Given the description of an element on the screen output the (x, y) to click on. 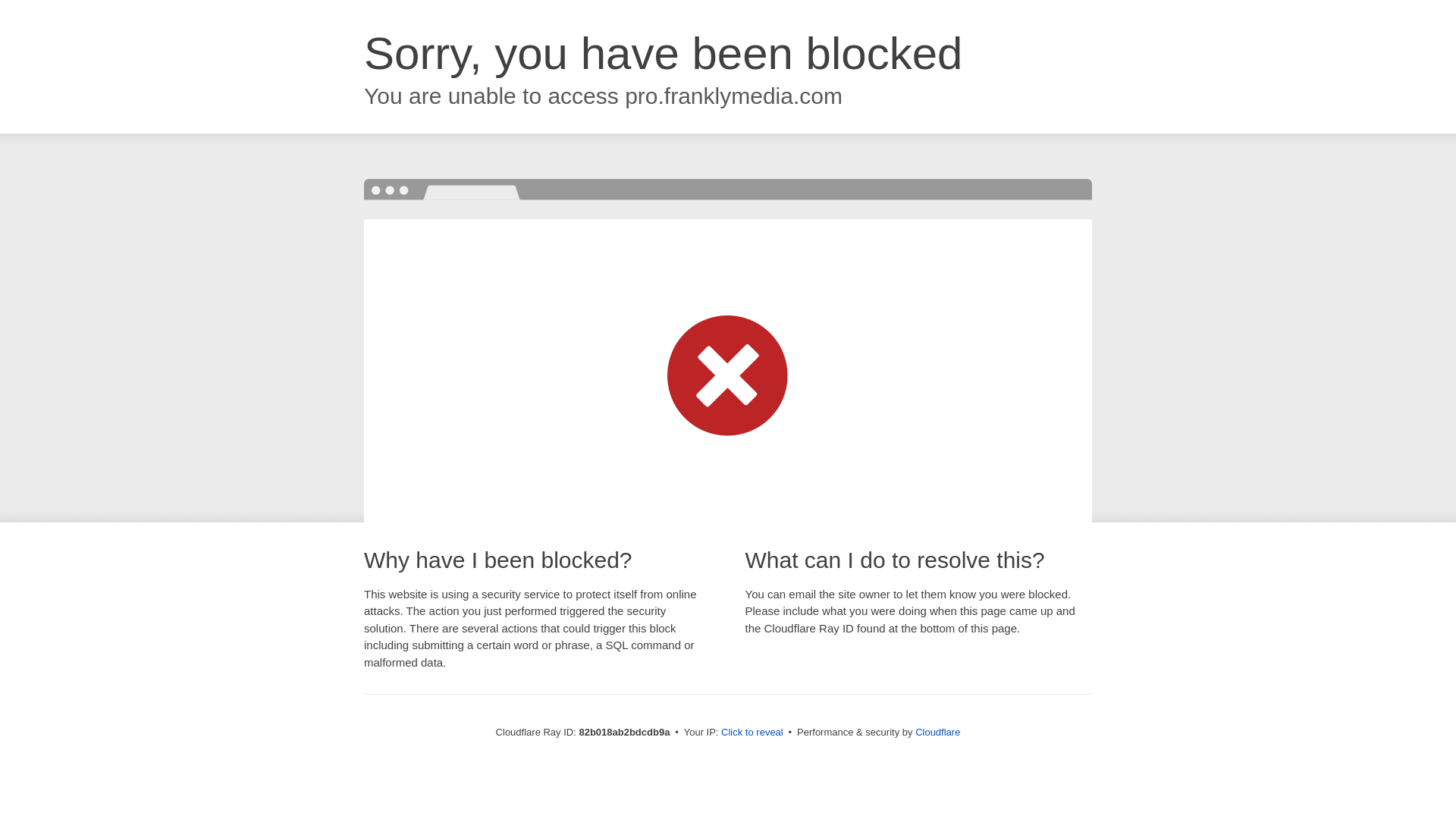
Click to reveal Element type: text (752, 732)
Cloudflare Element type: text (937, 731)
